Given the description of an element on the screen output the (x, y) to click on. 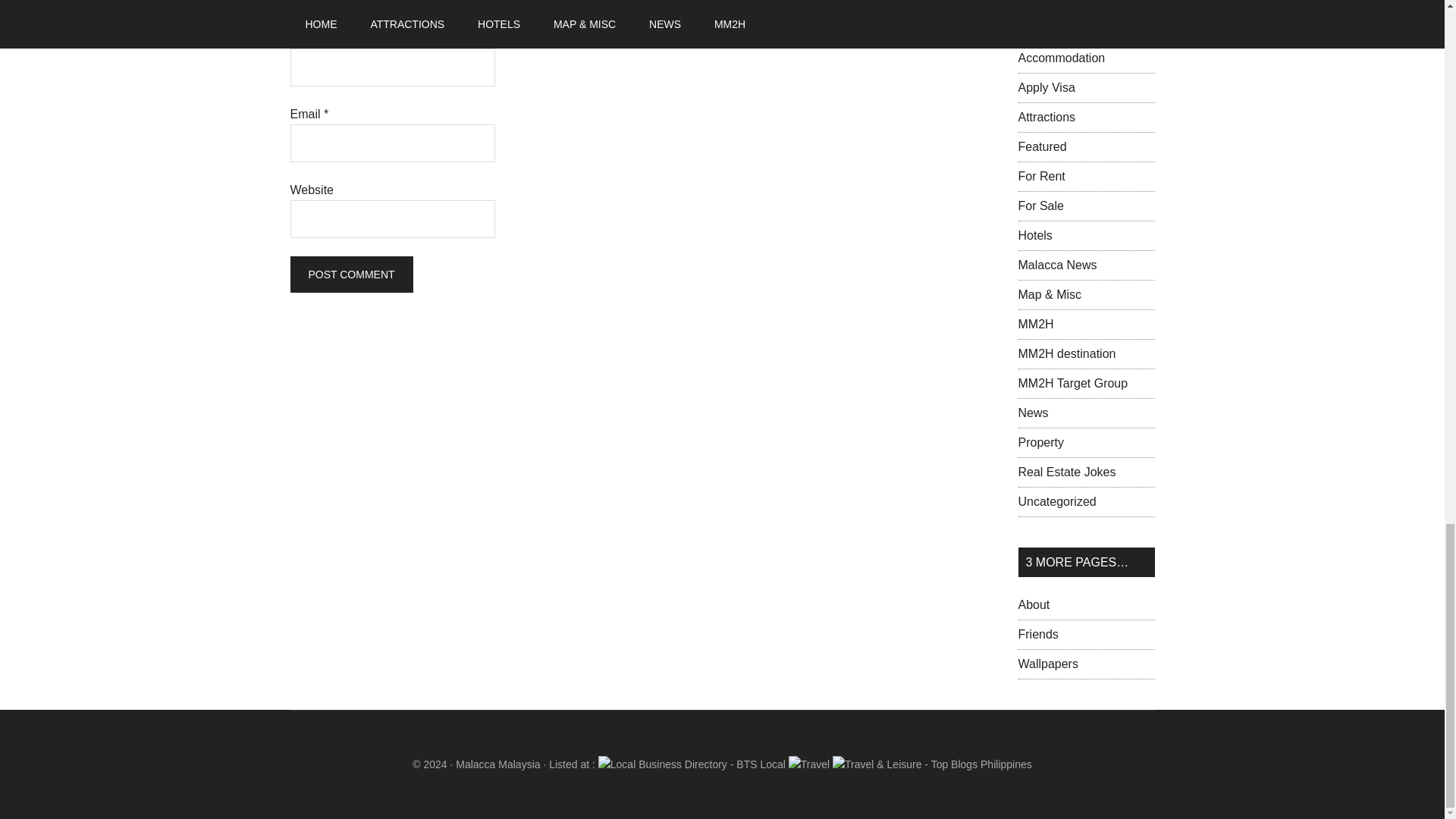
Malacca Malaysia (497, 764)
Post Comment (350, 274)
Apply Visa (1045, 87)
Wallpapers (1047, 663)
Travel (809, 764)
Hotels (1034, 235)
Attractions (1046, 116)
For Rent (1040, 175)
Friends (1037, 634)
News (1032, 412)
Post Comment (350, 274)
Property (1039, 441)
Featured (1041, 146)
Real Estate Jokes (1066, 472)
Accommodation (1061, 57)
